Given the description of an element on the screen output the (x, y) to click on. 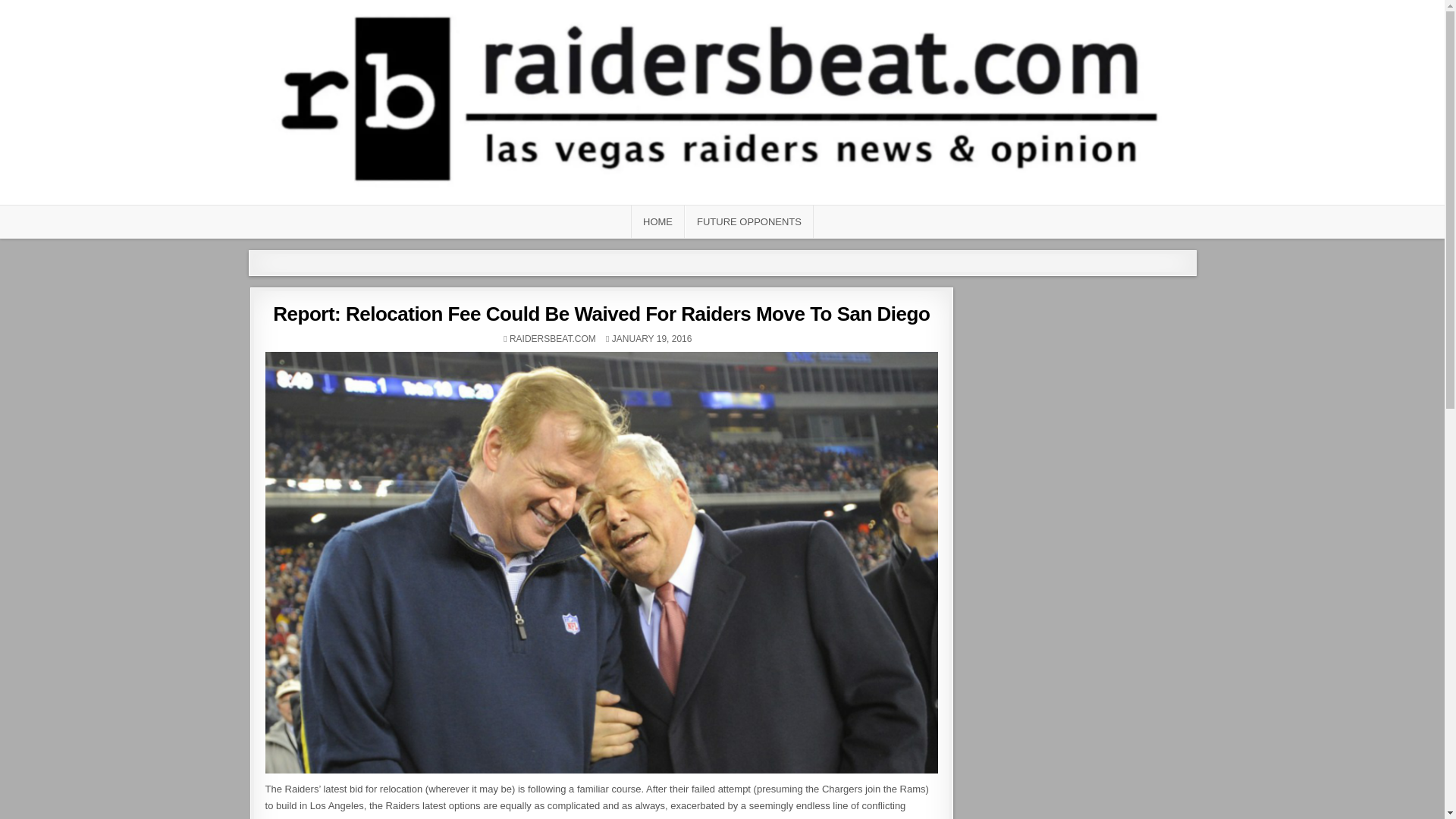
HOME (657, 221)
RAIDERSBEAT.COM (552, 338)
FUTURE OPPONENTS (748, 221)
